Given the description of an element on the screen output the (x, y) to click on. 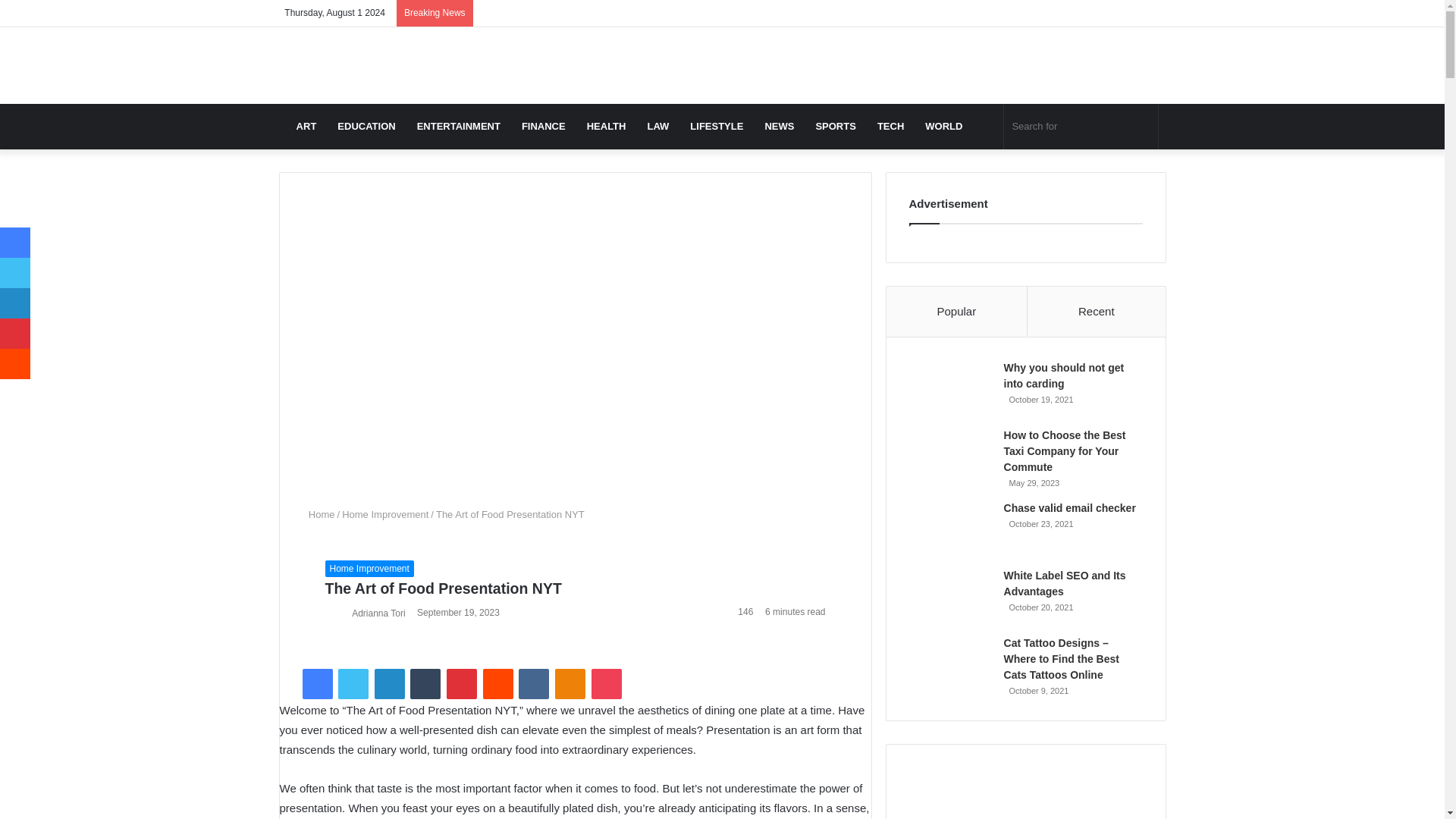
WORLD (943, 126)
Facebook (316, 684)
Twitter (352, 684)
Twitter (352, 684)
Adrianna Tori (379, 612)
Pinterest (461, 684)
ART (306, 126)
Adrianna Tori (379, 612)
Tumblr (425, 684)
SPORTS (835, 126)
VKontakte (533, 684)
Home (317, 513)
TECH (890, 126)
Odnoklassniki (569, 684)
NEWS (779, 126)
